Given the description of an element on the screen output the (x, y) to click on. 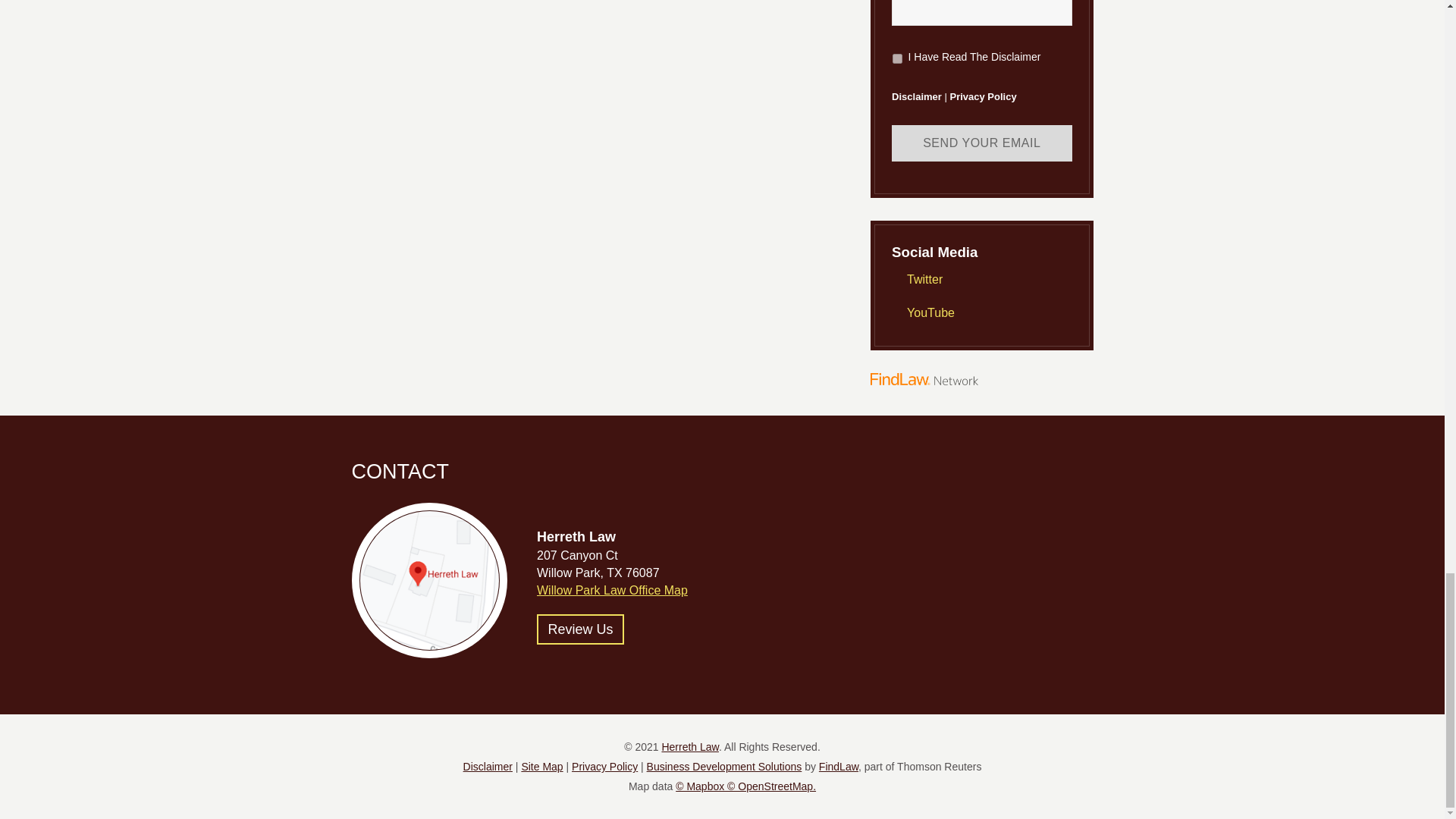
I Have Read The Disclaimer (897, 58)
Send Your Email (981, 143)
